Given the description of an element on the screen output the (x, y) to click on. 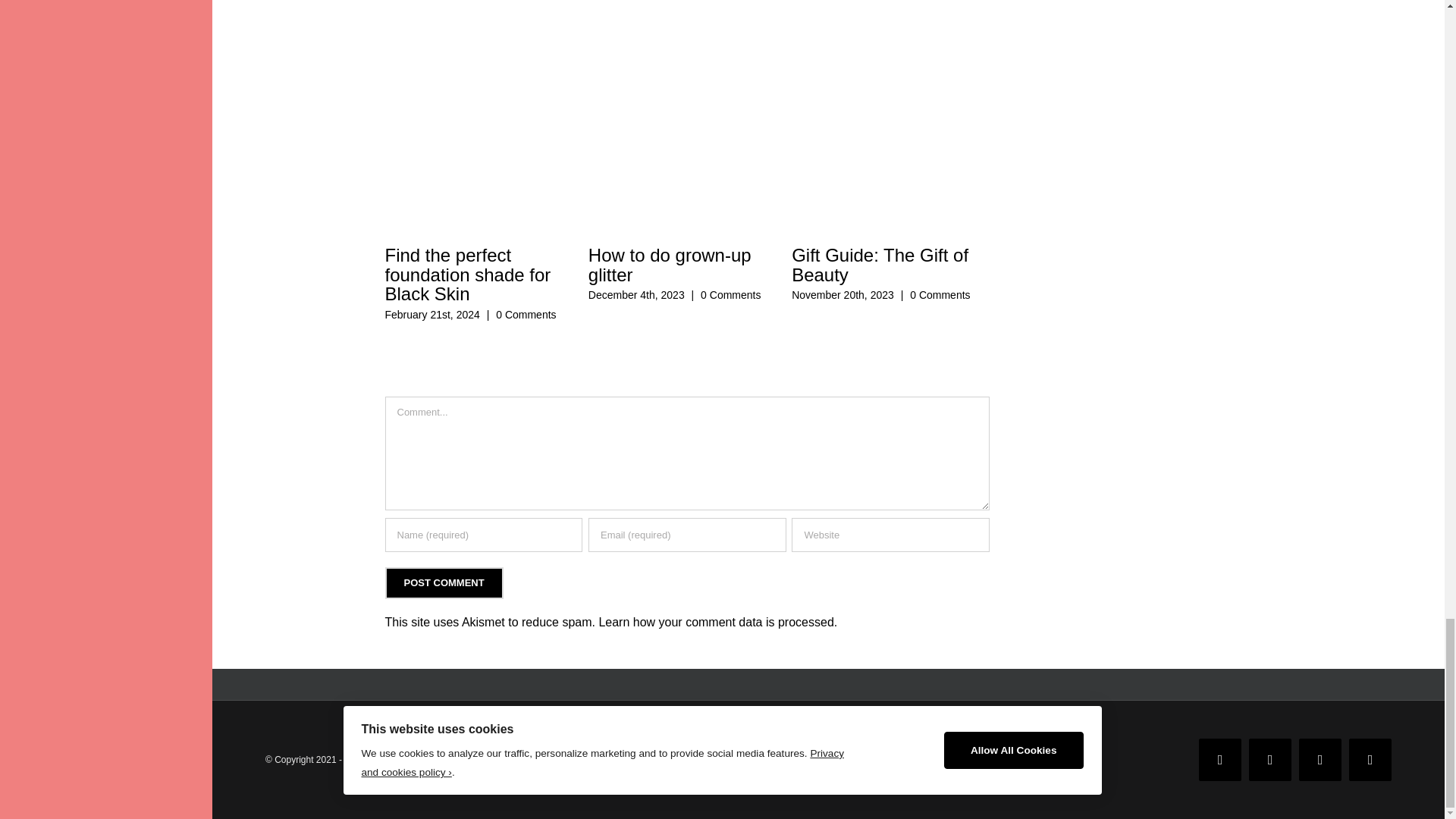
Find the perfect foundation shade for Black Skin (467, 274)
Post Comment (444, 582)
